Given the description of an element on the screen output the (x, y) to click on. 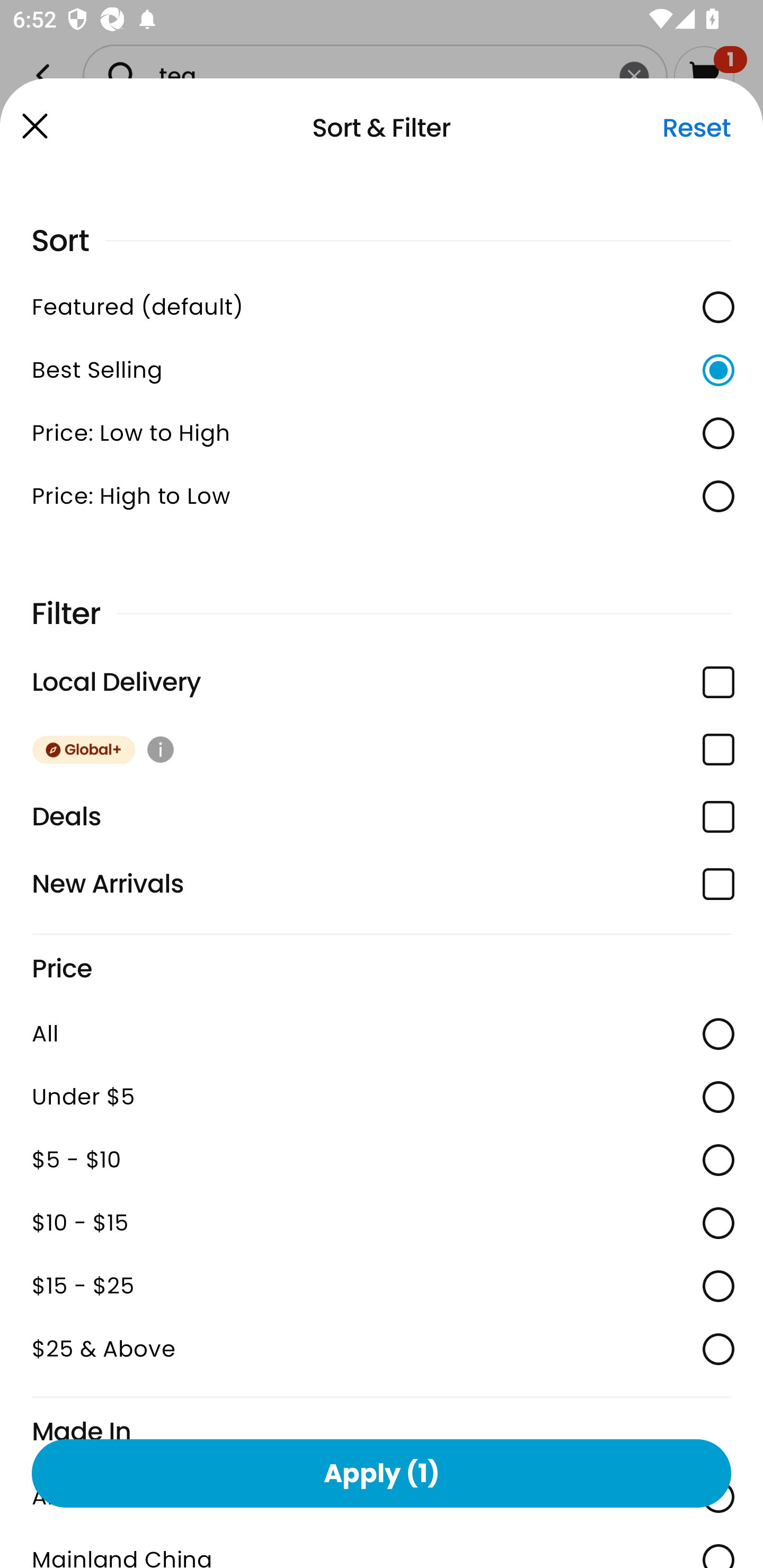
Reset (696, 127)
Apply (1) (381, 1472)
